Given the description of an element on the screen output the (x, y) to click on. 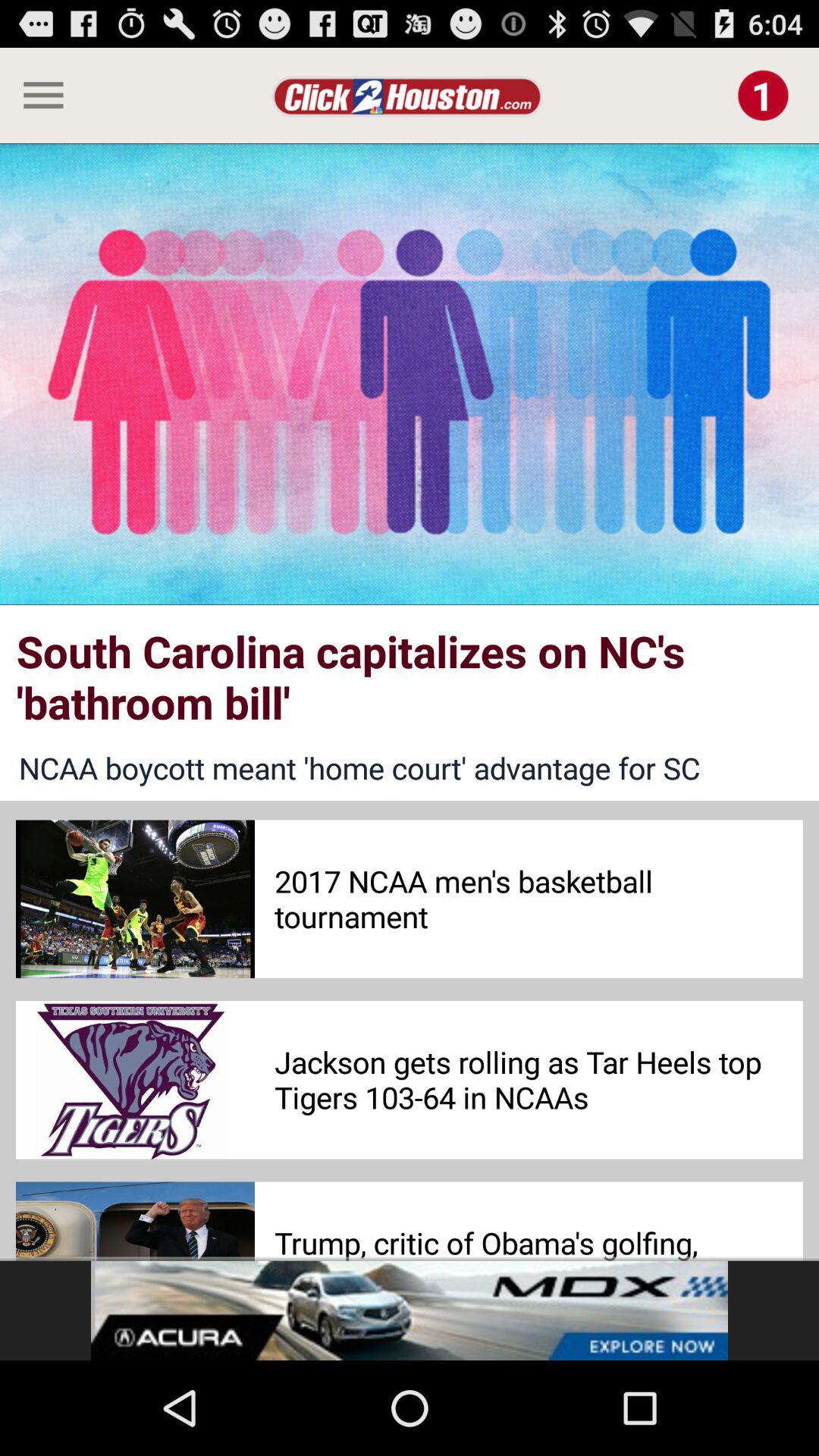
select 1 line text above acura (537, 1234)
click on the image tigers (134, 1079)
